Given the description of an element on the screen output the (x, y) to click on. 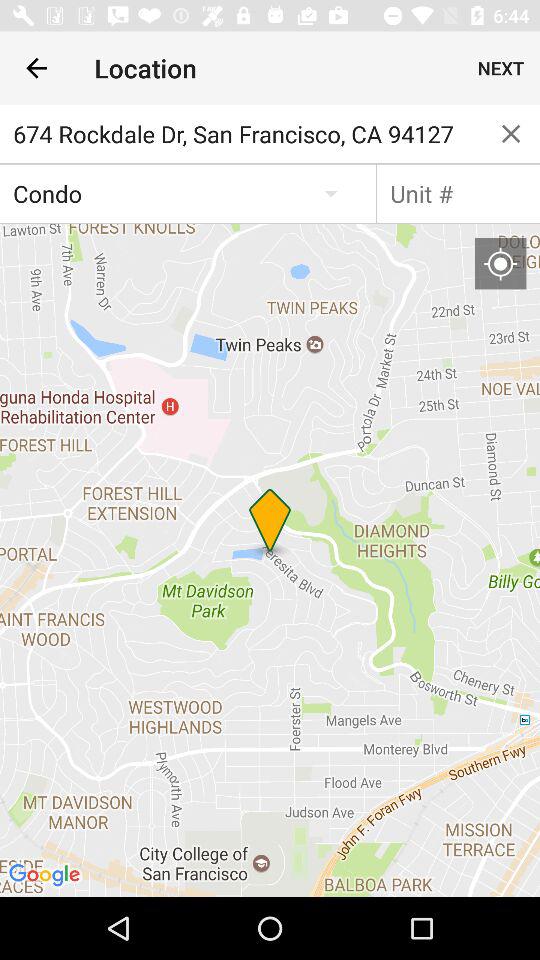
center the map (500, 263)
